Given the description of an element on the screen output the (x, y) to click on. 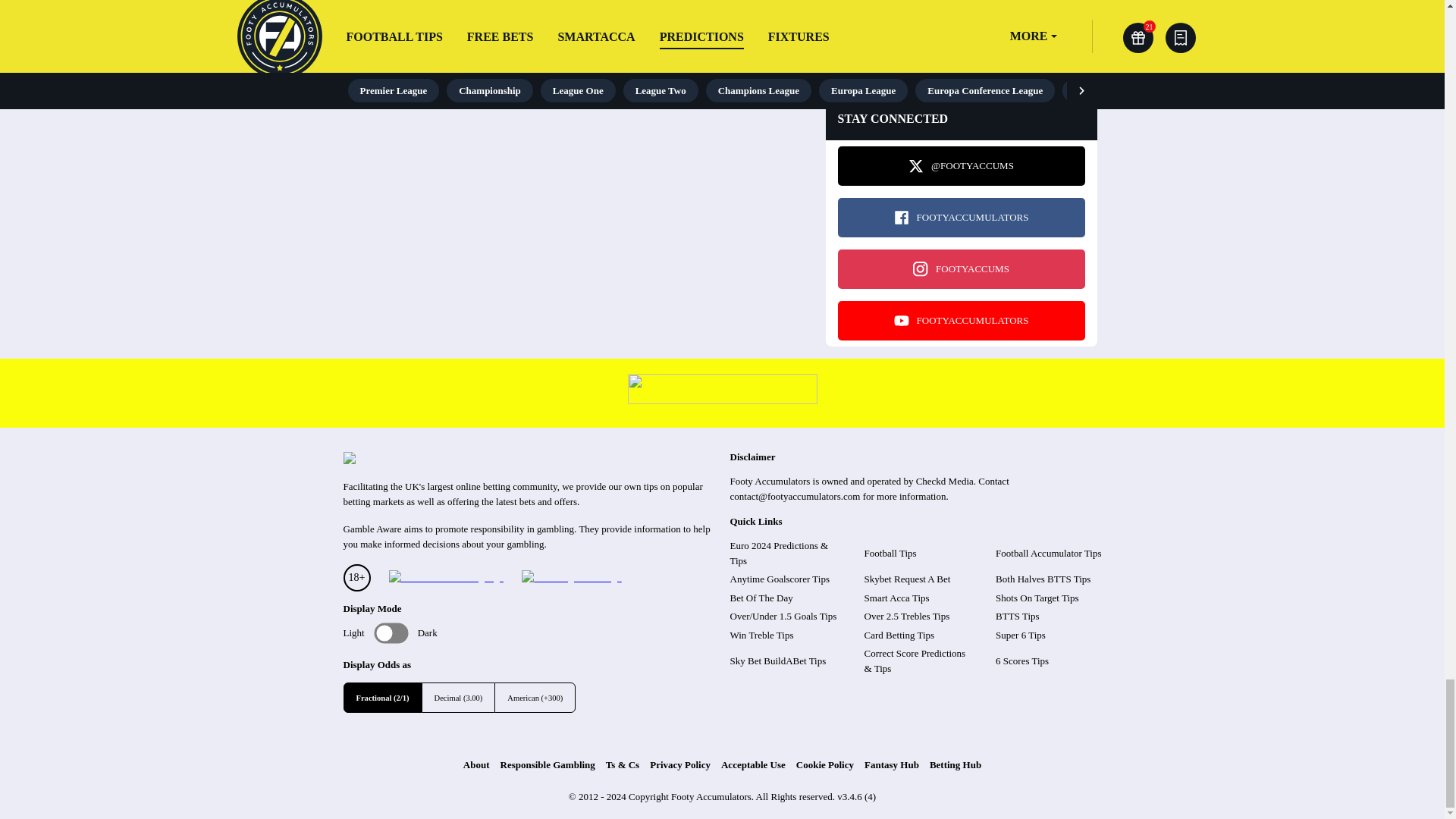
Be gamble aware campaign (445, 577)
Take time to think campaign link (721, 400)
Facebook Logo (900, 217)
YouTube Logo (900, 320)
GamblingCare.ie (571, 577)
